Given the description of an element on the screen output the (x, y) to click on. 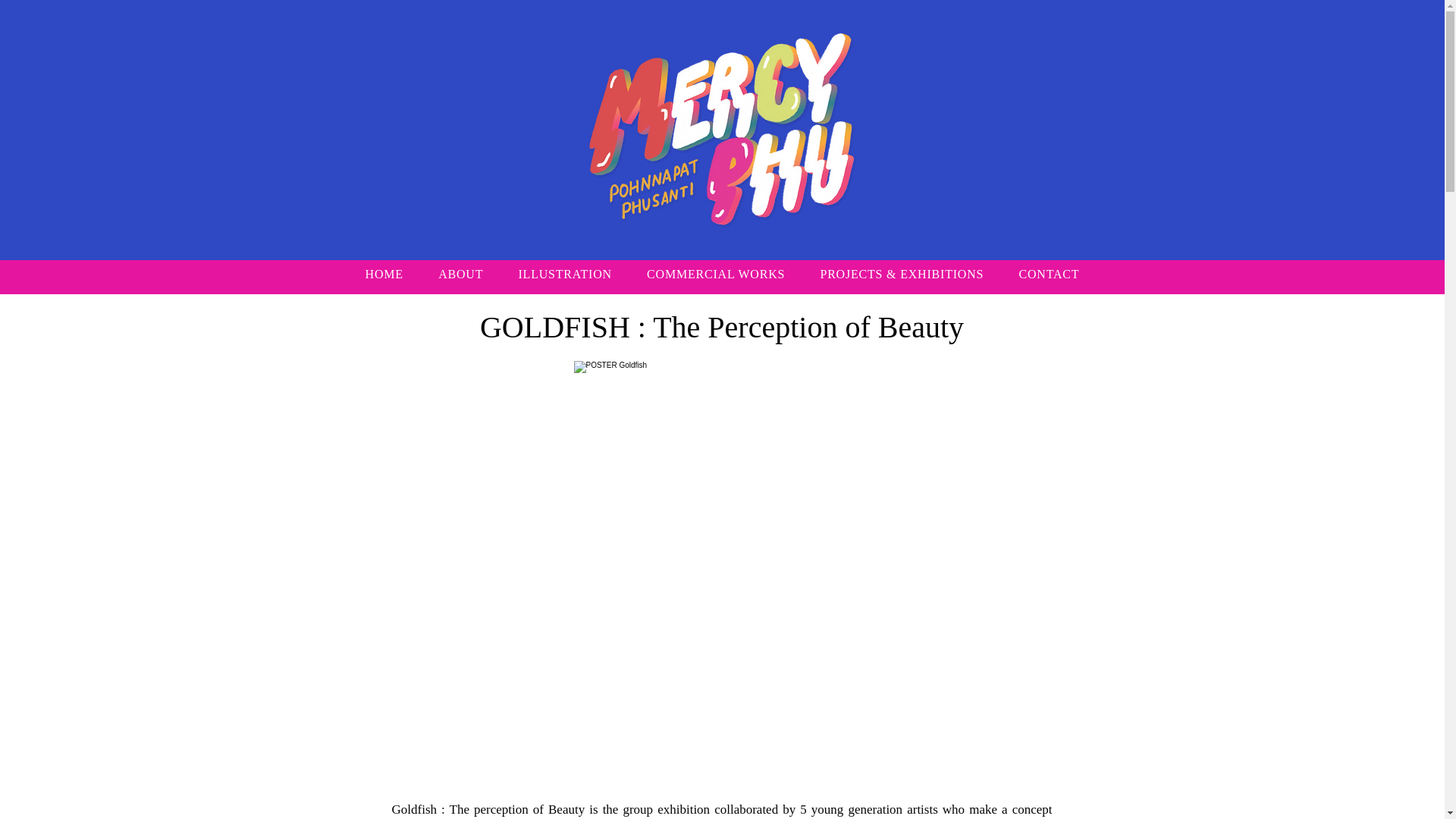
HOME (383, 274)
CONTACT (1048, 274)
COMMERCIAL WORKS (715, 274)
ILLUSTRATION (564, 274)
ABOUT (460, 274)
